Given the description of an element on the screen output the (x, y) to click on. 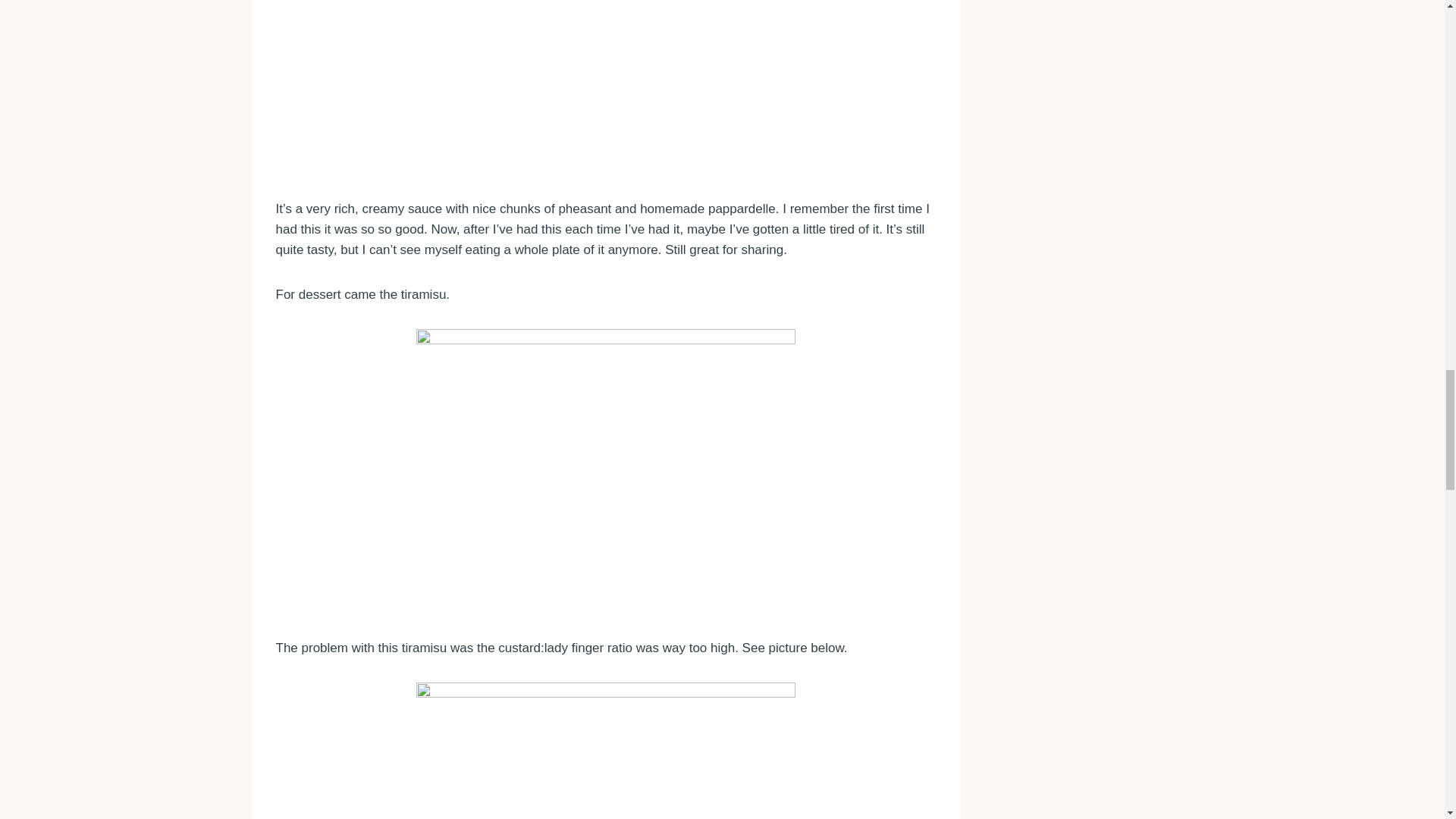
pappardelle (605, 87)
tiramisu (605, 471)
